Given the description of an element on the screen output the (x, y) to click on. 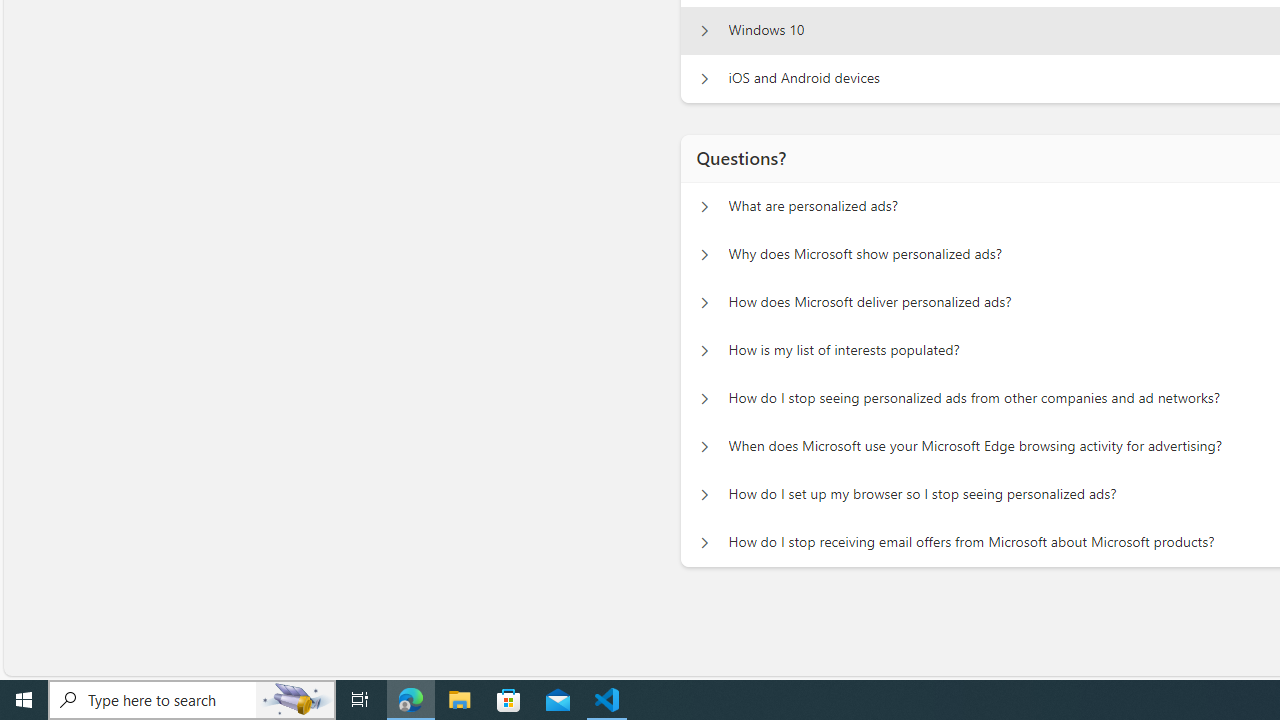
Questions? How is my list of interests populated? (704, 350)
Manage personalized ads on your device Windows 10 (704, 30)
Questions? Why does Microsoft show personalized ads? (704, 255)
Questions? How does Microsoft deliver personalized ads? (704, 302)
Questions? What are personalized ads? (704, 206)
